Given the description of an element on the screen output the (x, y) to click on. 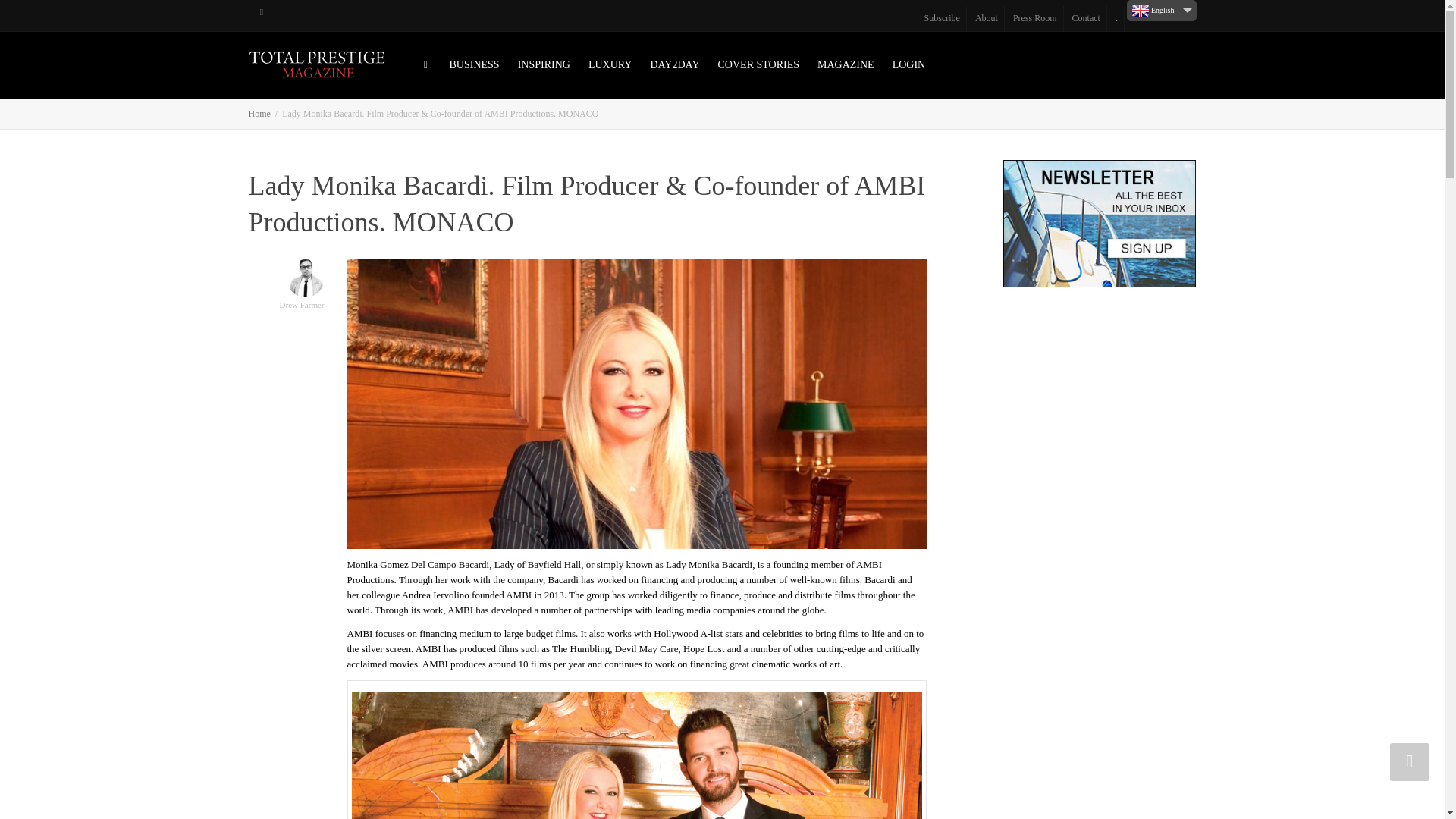
Press Room (1035, 18)
Subscribe (942, 18)
Contact (1085, 18)
Contact (1085, 18)
English (1161, 10)
Home (259, 113)
About (986, 18)
COVER STORIES (758, 64)
Press Room (1035, 18)
About (986, 18)
Subscribe (942, 18)
Drew Farmer (301, 292)
